Given the description of an element on the screen output the (x, y) to click on. 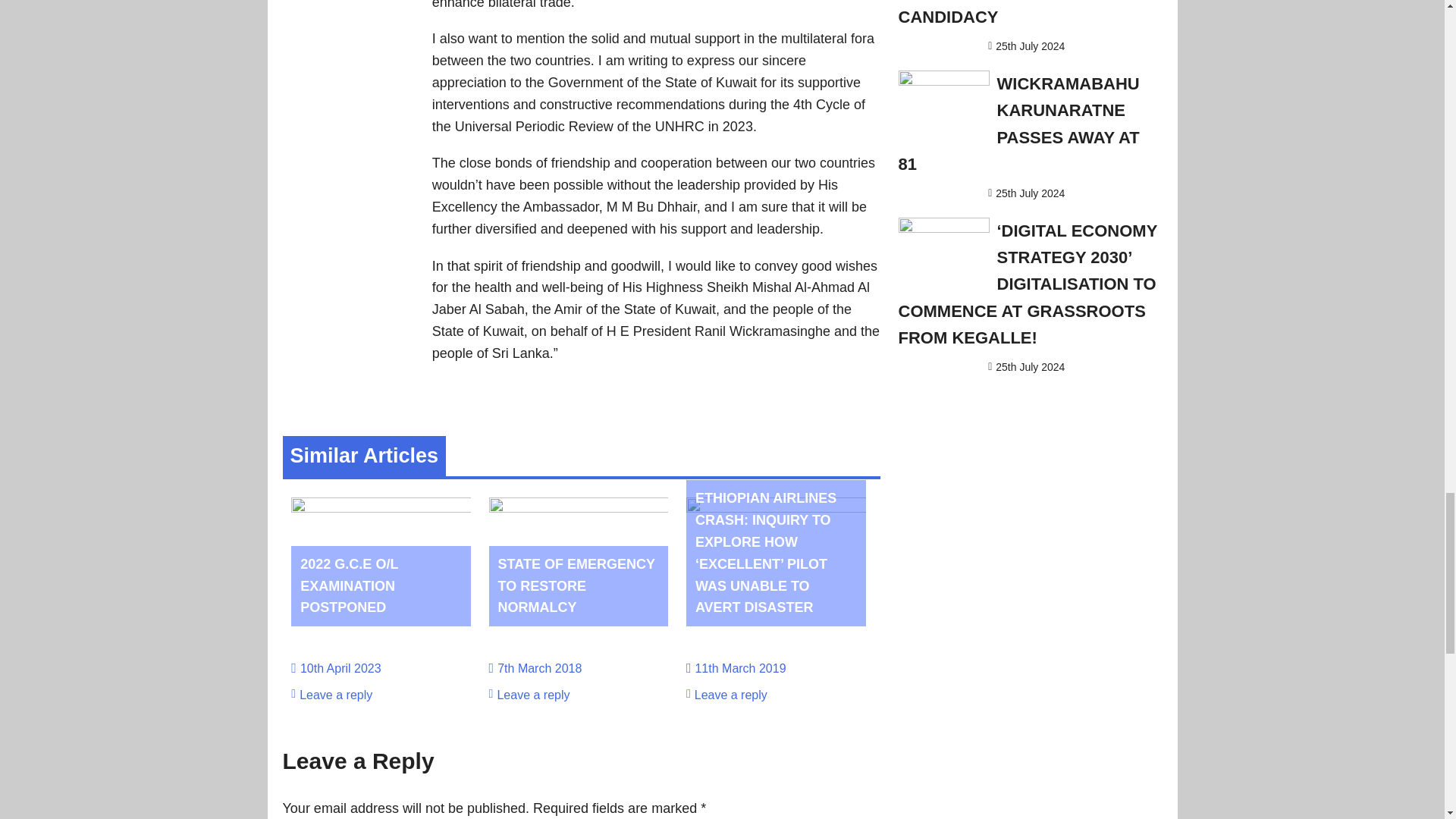
State of emergency to restore normalcy (578, 507)
State of emergency to restore normalcy (576, 585)
Leave a reply (335, 694)
STATE OF EMERGENCY TO RESTORE NORMALCY (576, 585)
